Given the description of an element on the screen output the (x, y) to click on. 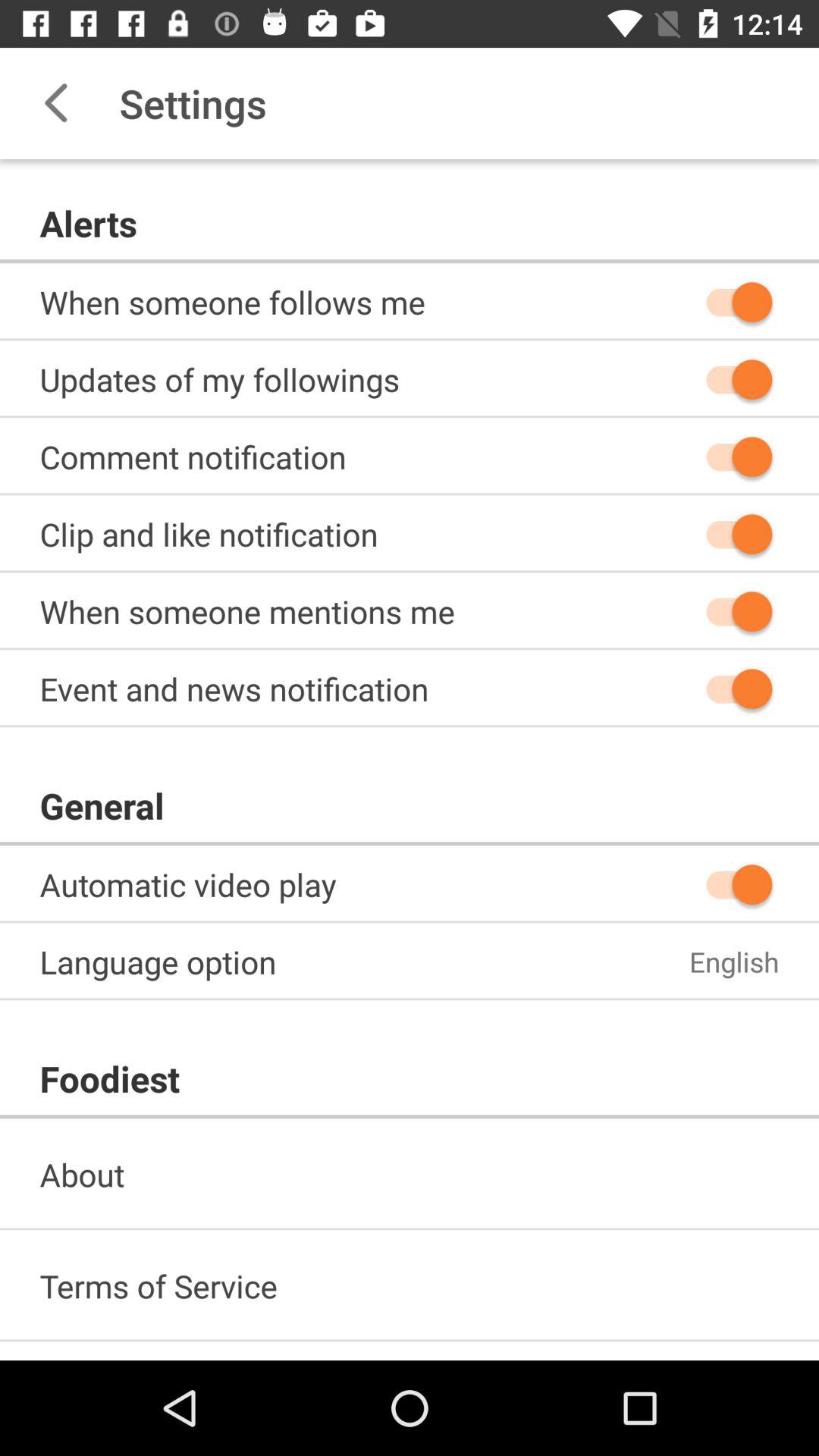
click on icon on the right side of when someone follows me (731, 301)
click on icon on the right side of event and news notification (731, 687)
